Given the description of an element on the screen output the (x, y) to click on. 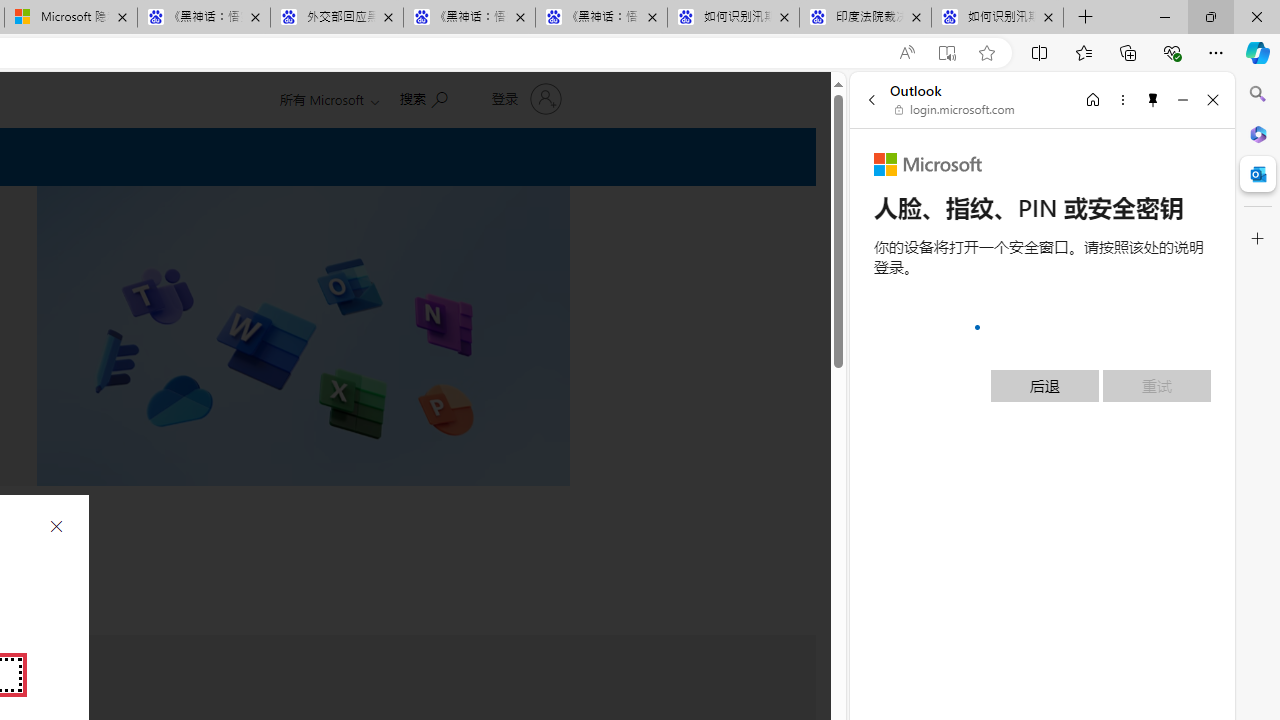
login.microsoft.com (955, 110)
